Given the description of an element on the screen output the (x, y) to click on. 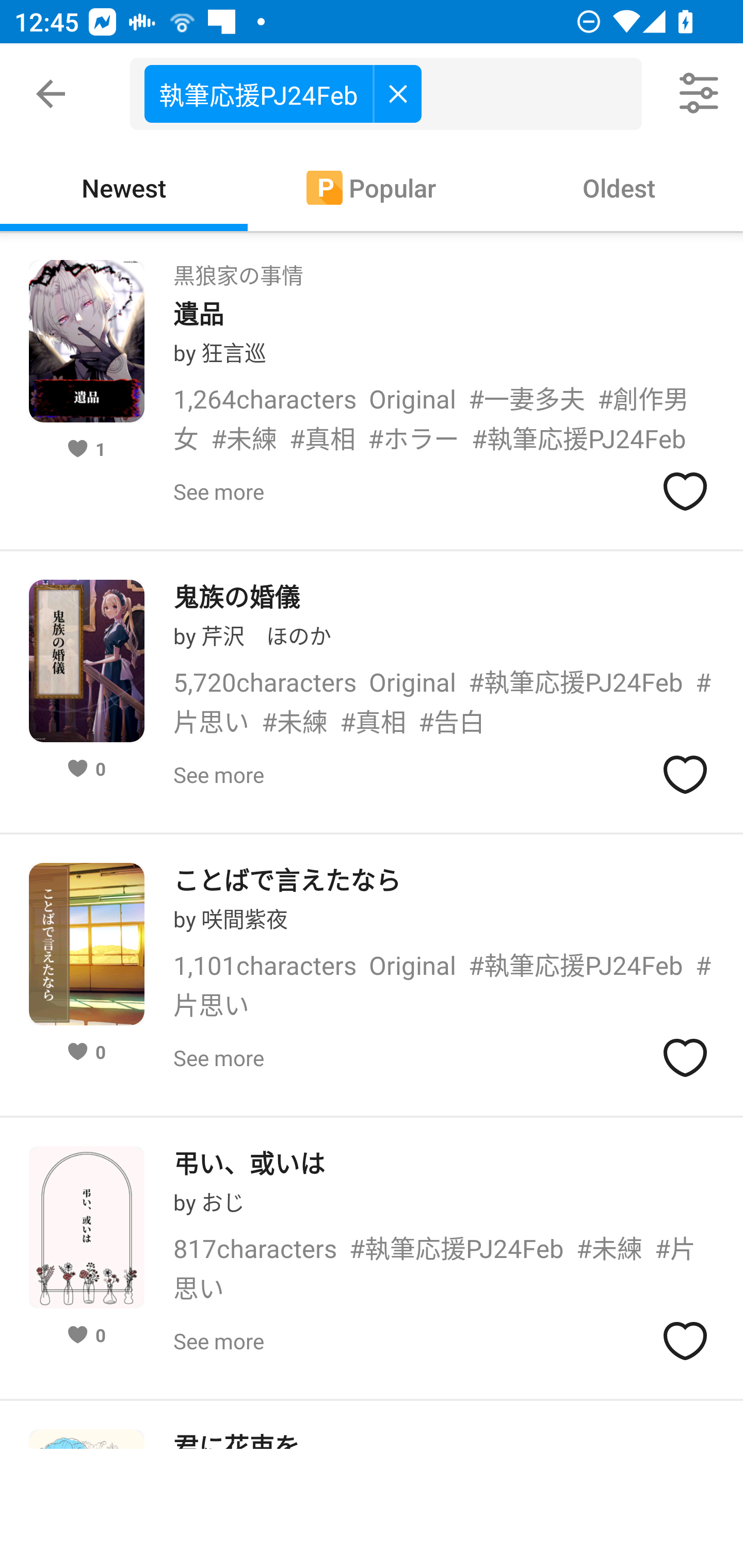
Navigate up (50, 93)
Filters (699, 93)
執筆応援PJ24Feb (392, 94)
執筆応援PJ24Feb (282, 93)
[P] Popular (371, 187)
Oldest (619, 187)
黒狼家の事情 (238, 269)
